Given the description of an element on the screen output the (x, y) to click on. 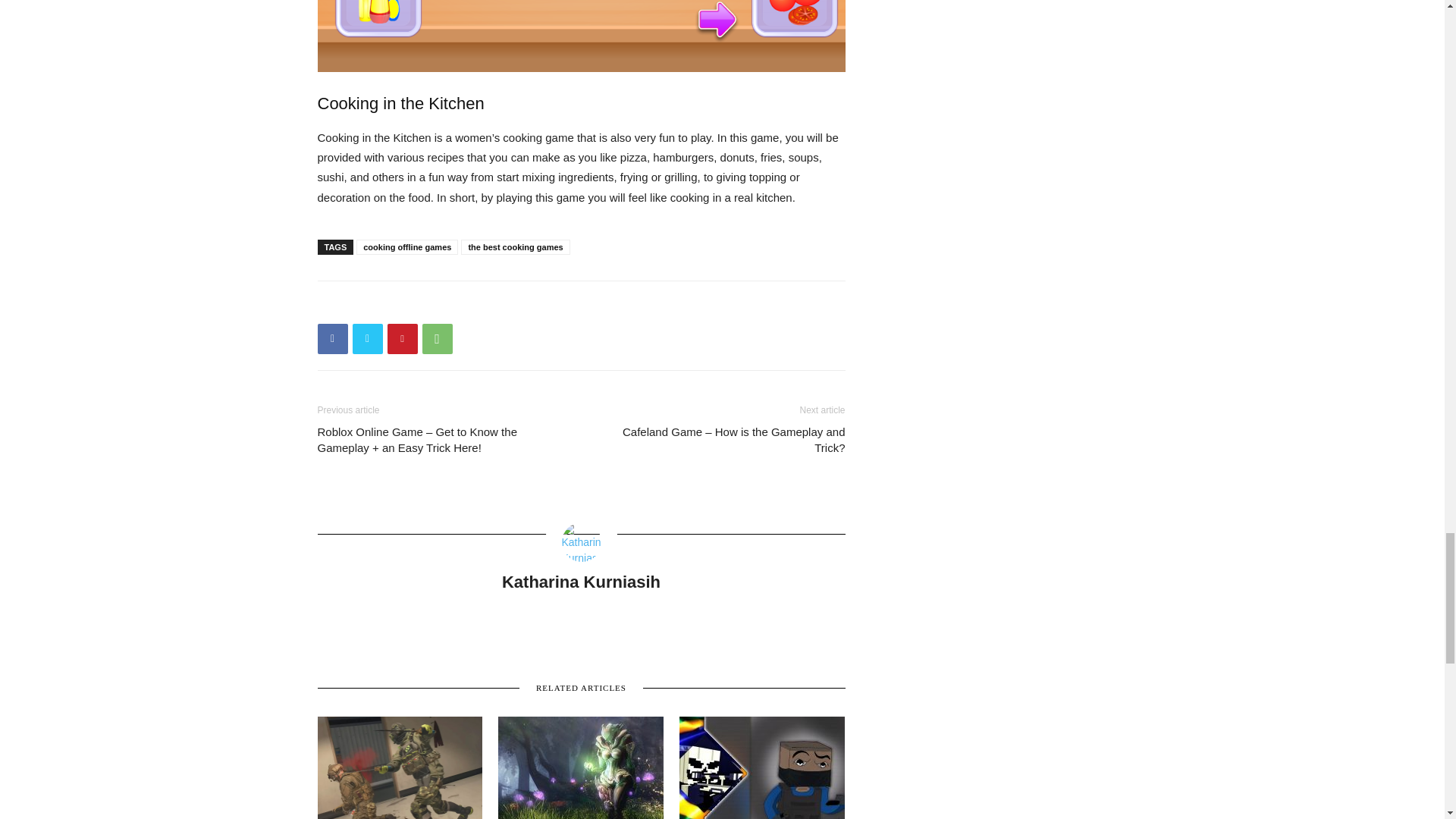
cooking offline games (407, 246)
the best cooking games (515, 246)
Twitter (366, 338)
Katharina Kurniasih (581, 581)
Pinterest (401, 338)
Facebook (332, 338)
WhatsApp (436, 338)
bottomFacebookLike (430, 304)
How to Do a Finishing Move in Modern Warfare 3 and Warzone (399, 767)
